Given the description of an element on the screen output the (x, y) to click on. 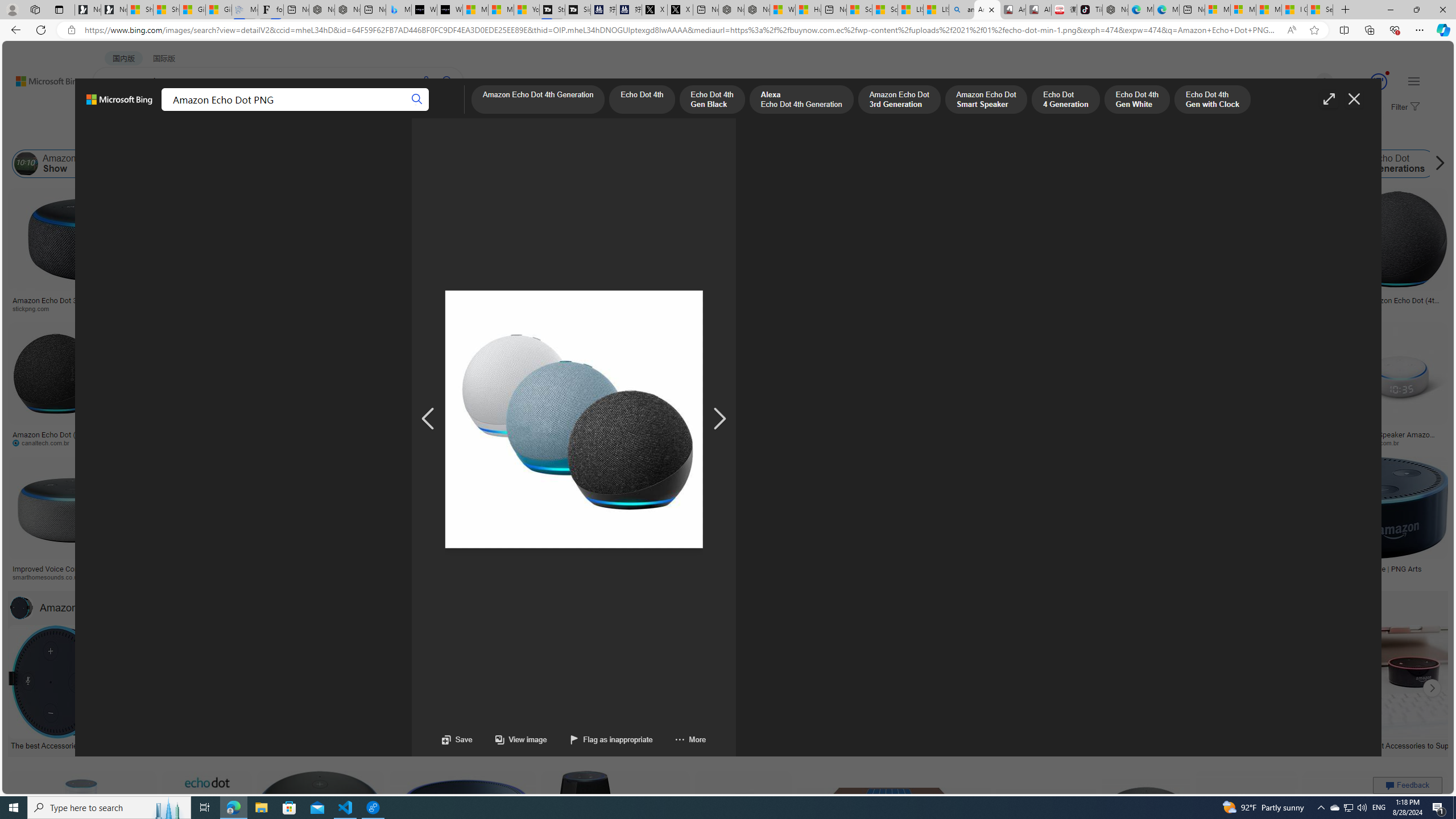
Amazon Echo Speaker (681, 163)
Alexa Echo Png Pic Png Arts Images (1282, 303)
canaltech.com.br (45, 442)
Microsoft Bing Travel - Shangri-La Hotel Bangkok (398, 9)
energyearth.com (794, 576)
stickpng.herokuapp.com (342, 308)
Echo Dot Accessories (226, 163)
I Gained 20 Pounds of Muscle in 30 Days! | Watch (1293, 9)
Amazon Echo Dot 4th Gen (565, 227)
amazon.com.mx (1034, 442)
